Given the description of an element on the screen output the (x, y) to click on. 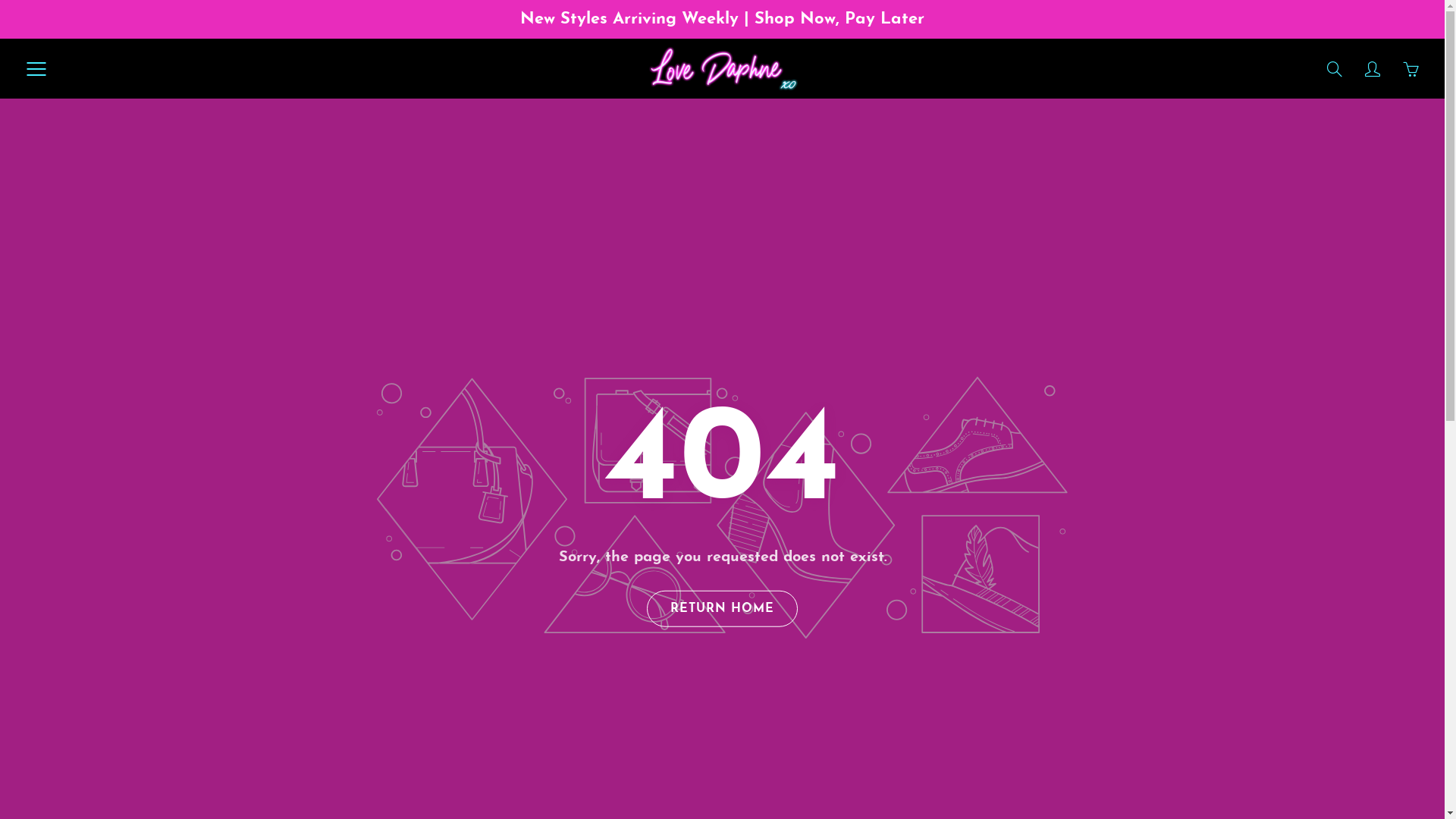
RETURN HOME Element type: text (721, 608)
Press space bar to toggle menu Element type: text (35, 68)
You have 0 items in your cart Element type: text (1410, 68)
My account Element type: text (1372, 68)
Search Element type: text (1334, 68)
